Given the description of an element on the screen output the (x, y) to click on. 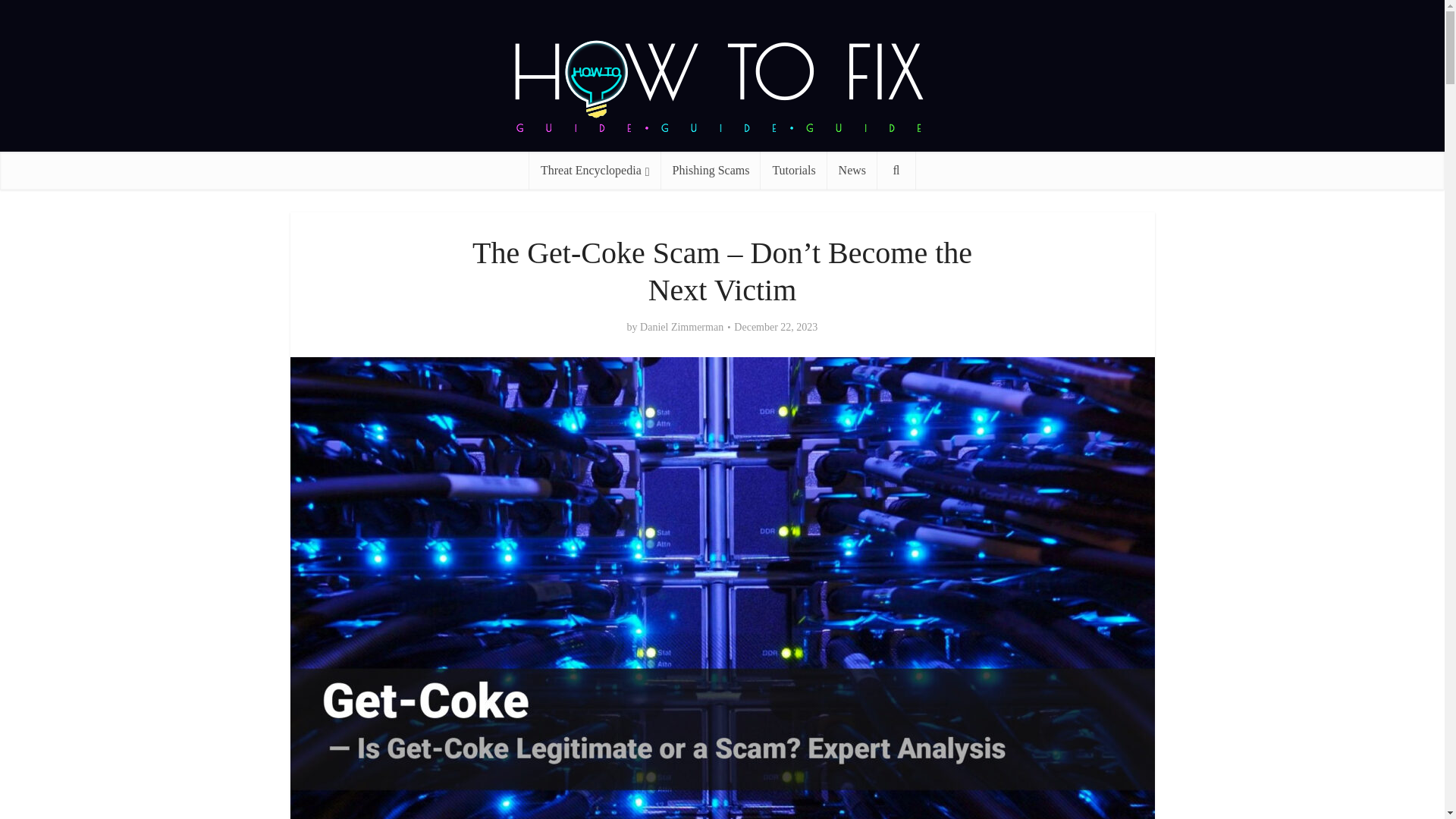
Phishing Scams (711, 170)
Threat Encyclopedia (595, 170)
Tutorials (793, 170)
Daniel Zimmerman (681, 327)
News (852, 170)
